Given the description of an element on the screen output the (x, y) to click on. 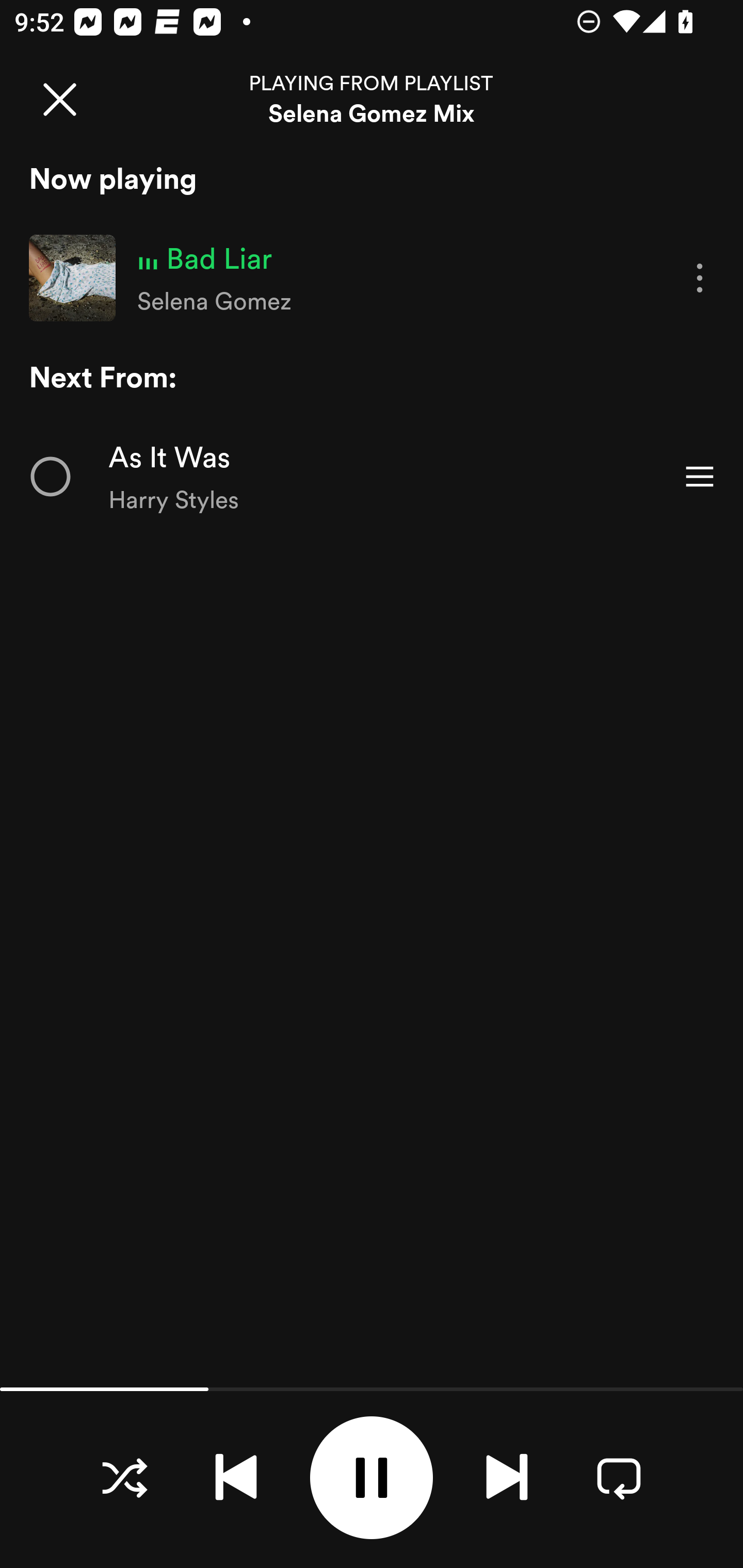
Close (59, 99)
PLAYING FROM PLAYLIST Selena Gomez Mix (371, 99)
More options for song Bad Liar (699, 278)
As It Was Harry Styles Reorder track (371, 476)
Pause (371, 1477)
Previous (235, 1477)
Next (507, 1477)
Choose a Listening Mode (123, 1477)
Repeat (618, 1477)
